Given the description of an element on the screen output the (x, y) to click on. 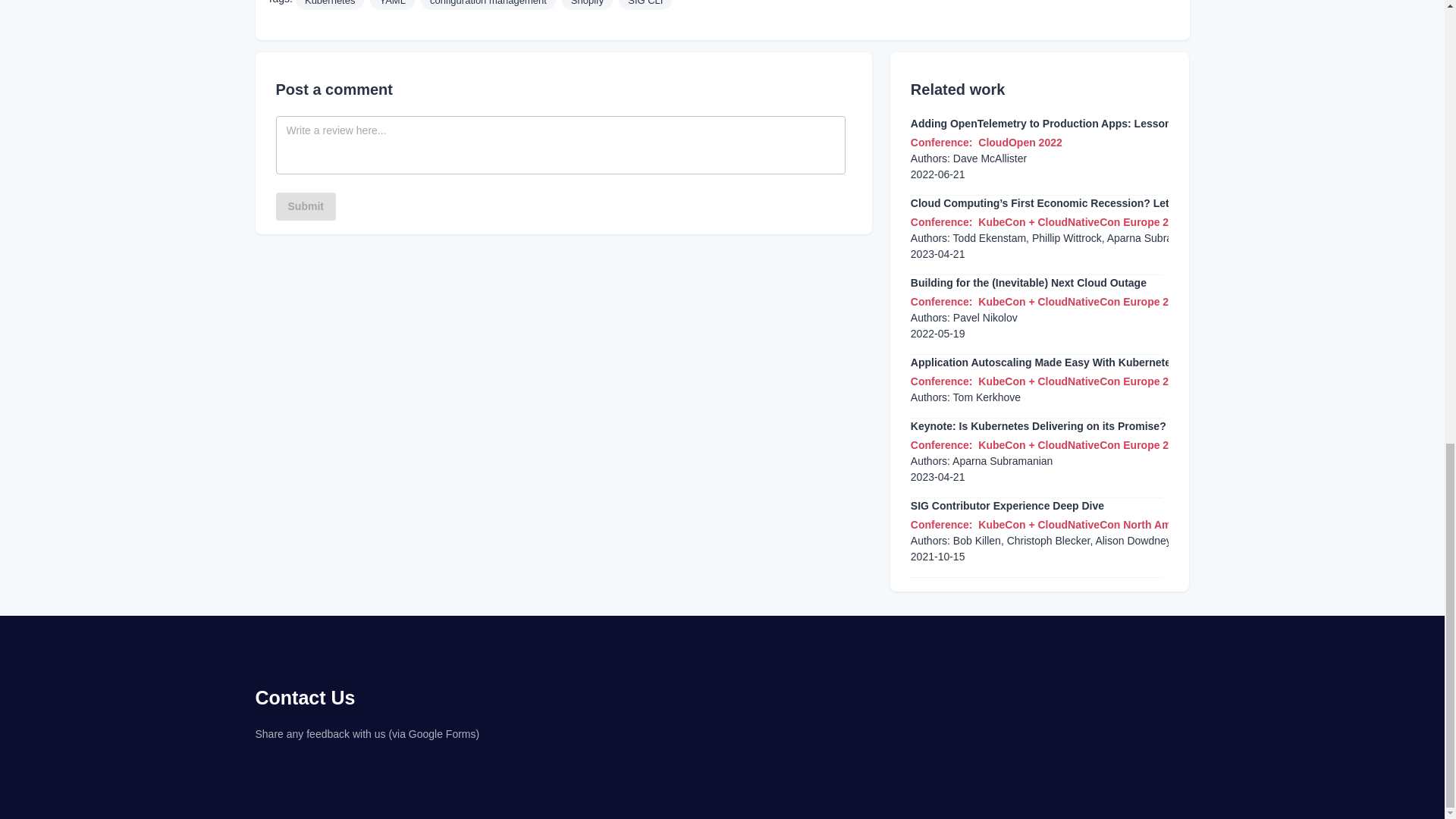
configuration management (488, 2)
SIG Contributor Experience Deep Dive (1007, 505)
Kubernetes (329, 2)
Adding OpenTelemetry to Production Apps: Lessons Learned  (1066, 123)
Submit (306, 206)
SIG CLI (644, 2)
CloudOpen 2022 (1019, 142)
SIG Contributor Experience Deep Dive  (1007, 505)
Adding OpenTelemetry to Production Apps: Lessons Learned (1066, 123)
Shopify (587, 2)
YAML (391, 2)
